Given the description of an element on the screen output the (x, y) to click on. 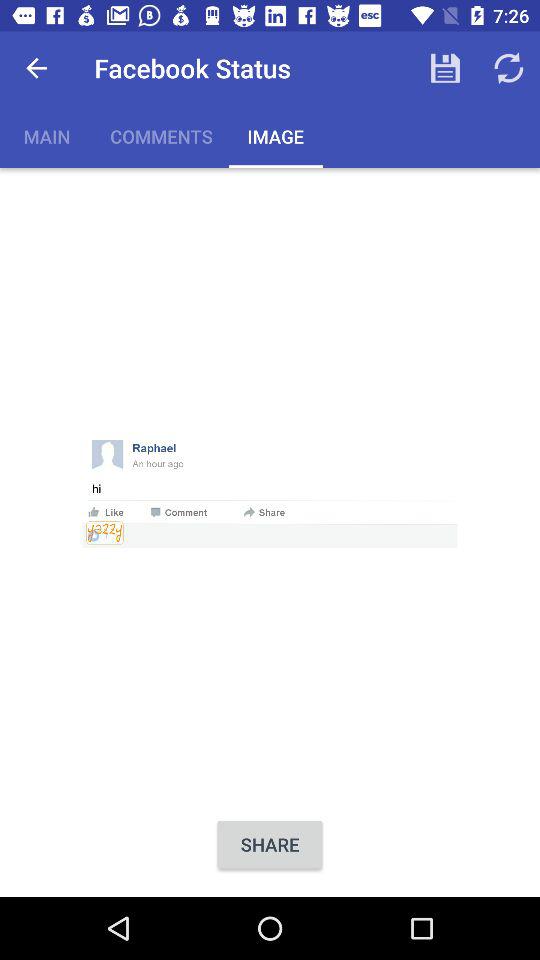
turn on the app to the left of facebook status (36, 68)
